Given the description of an element on the screen output the (x, y) to click on. 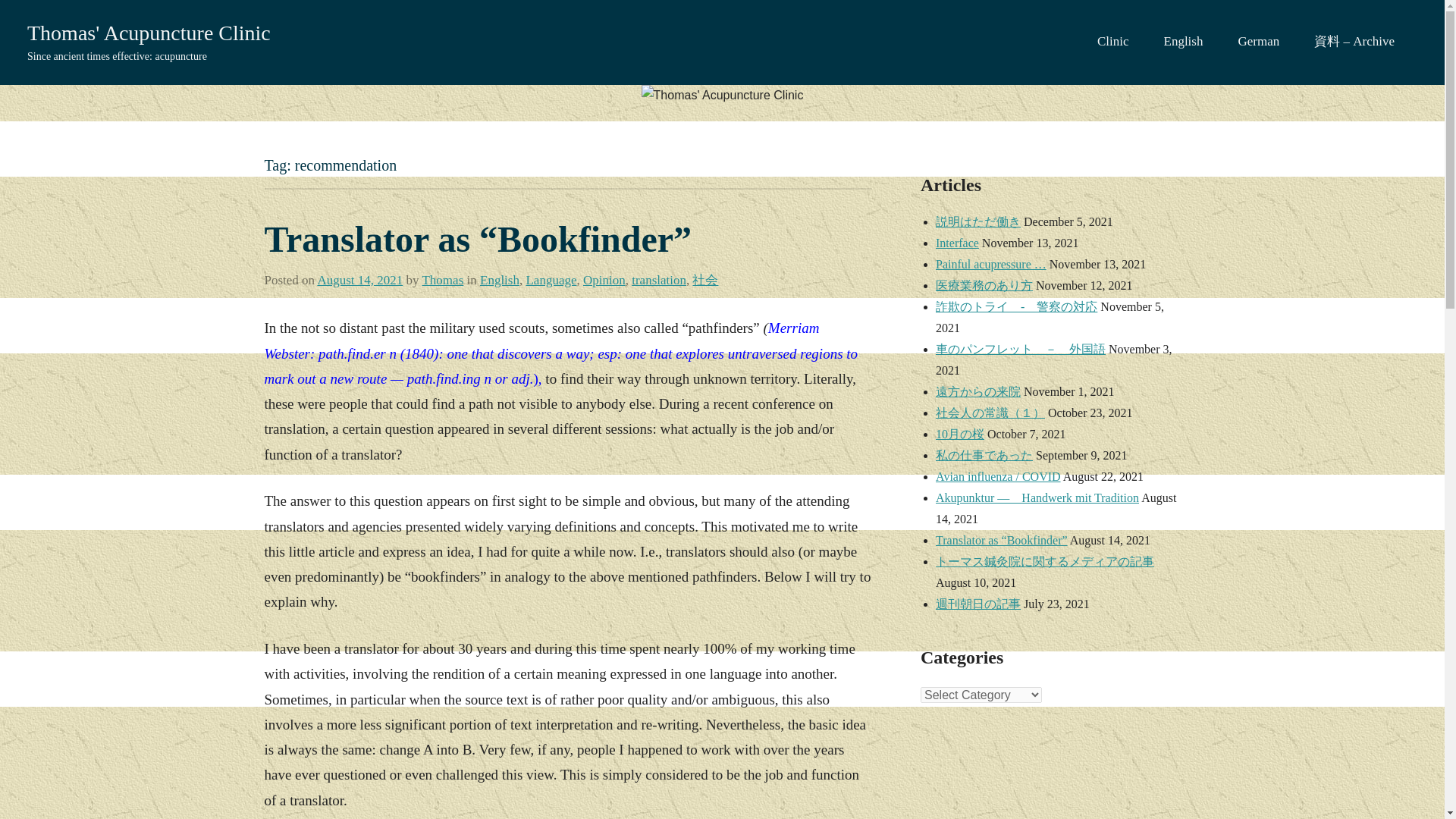
Thomas' Acupuncture Clinic (148, 33)
View all posts by Thomas (442, 279)
German (1263, 41)
Clinic (1118, 41)
English (1188, 41)
